Given the description of an element on the screen output the (x, y) to click on. 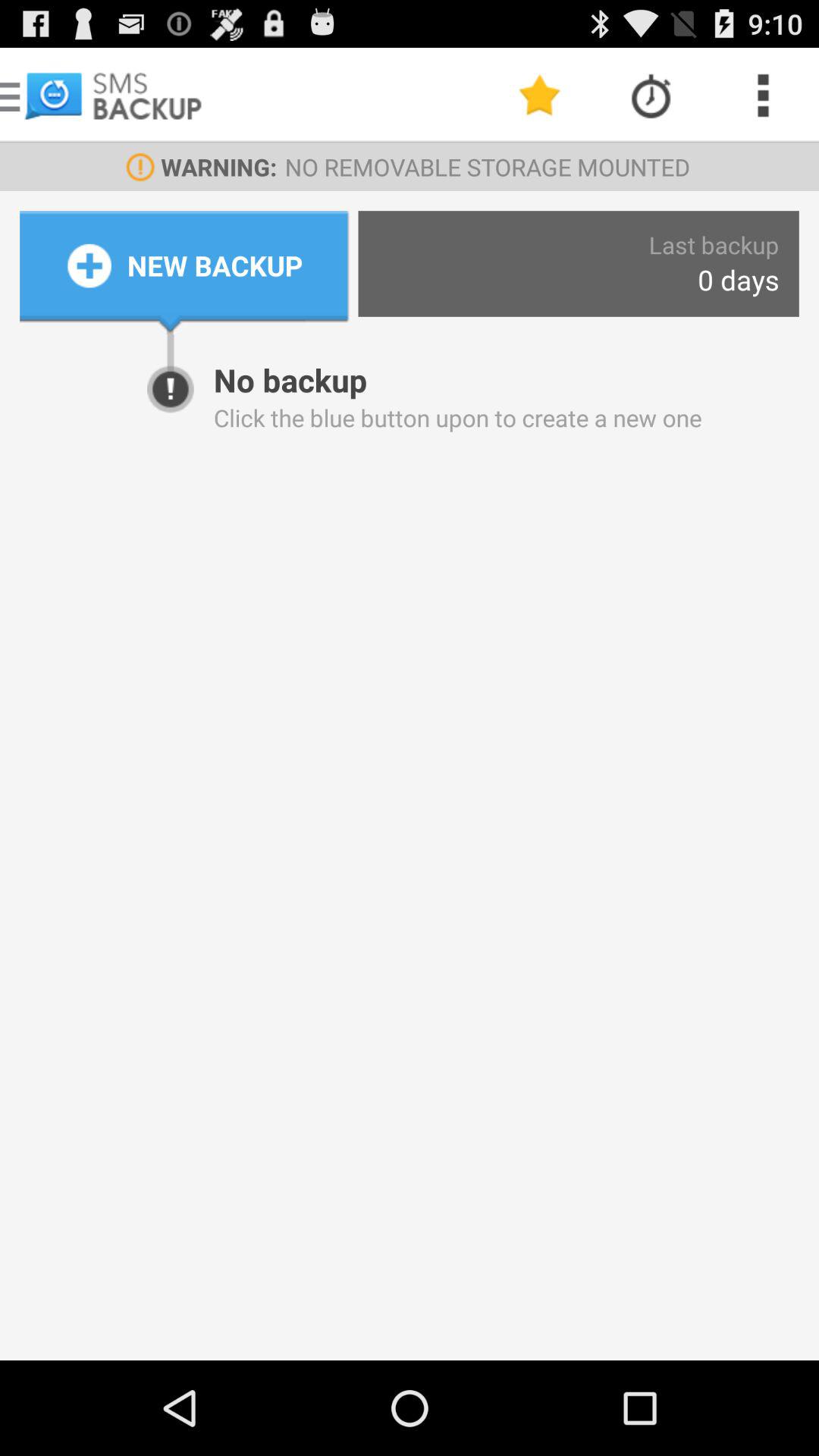
click the icon above last backup icon (763, 95)
